Given the description of an element on the screen output the (x, y) to click on. 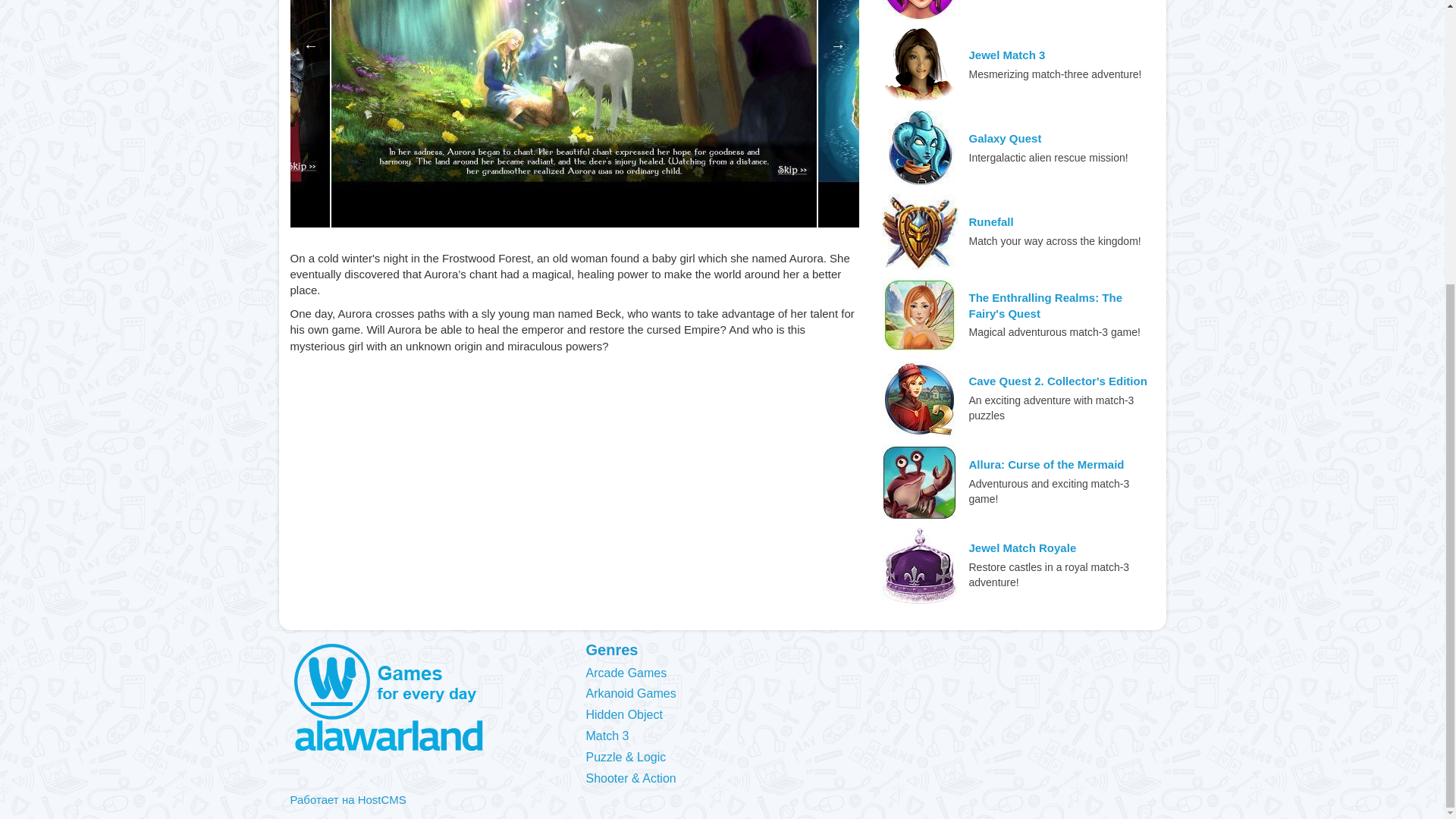
The Voice from Heaven - Screenshot 7 (164, 113)
The Voice from Heaven - Screenshot 1 (572, 113)
Galaxy Quest (1005, 138)
Runefall (991, 221)
AlawarLand - games for every day (425, 698)
The Enthralling Realms: The Fairy's Quest (1061, 305)
Advertisement (574, 479)
The Voice from Heaven - Screenshot 2 (1059, 113)
Hidden Object (630, 714)
Jewel Match Royale (1023, 547)
